Given the description of an element on the screen output the (x, y) to click on. 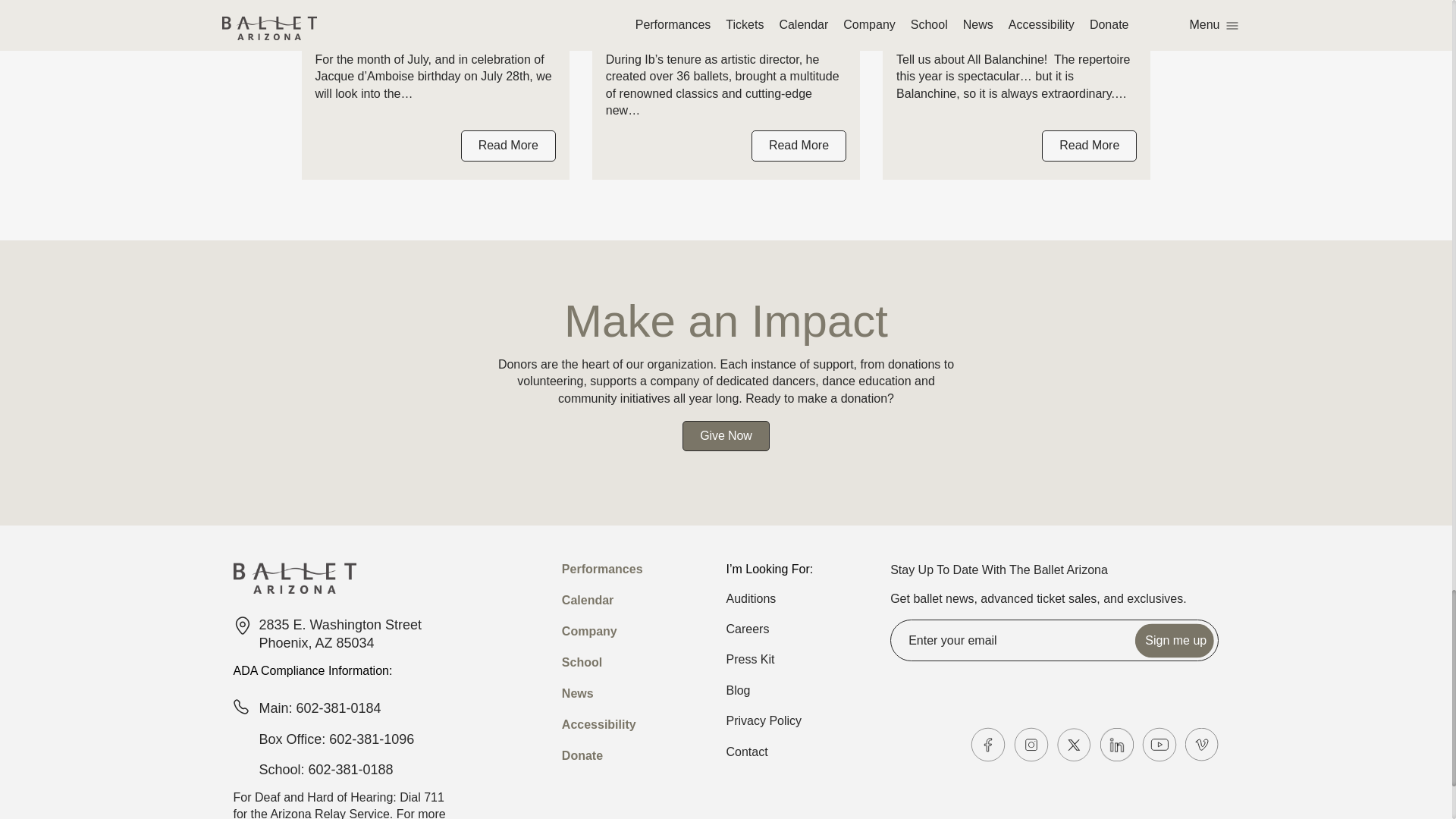
Sign me up (1174, 640)
